Given the description of an element on the screen output the (x, y) to click on. 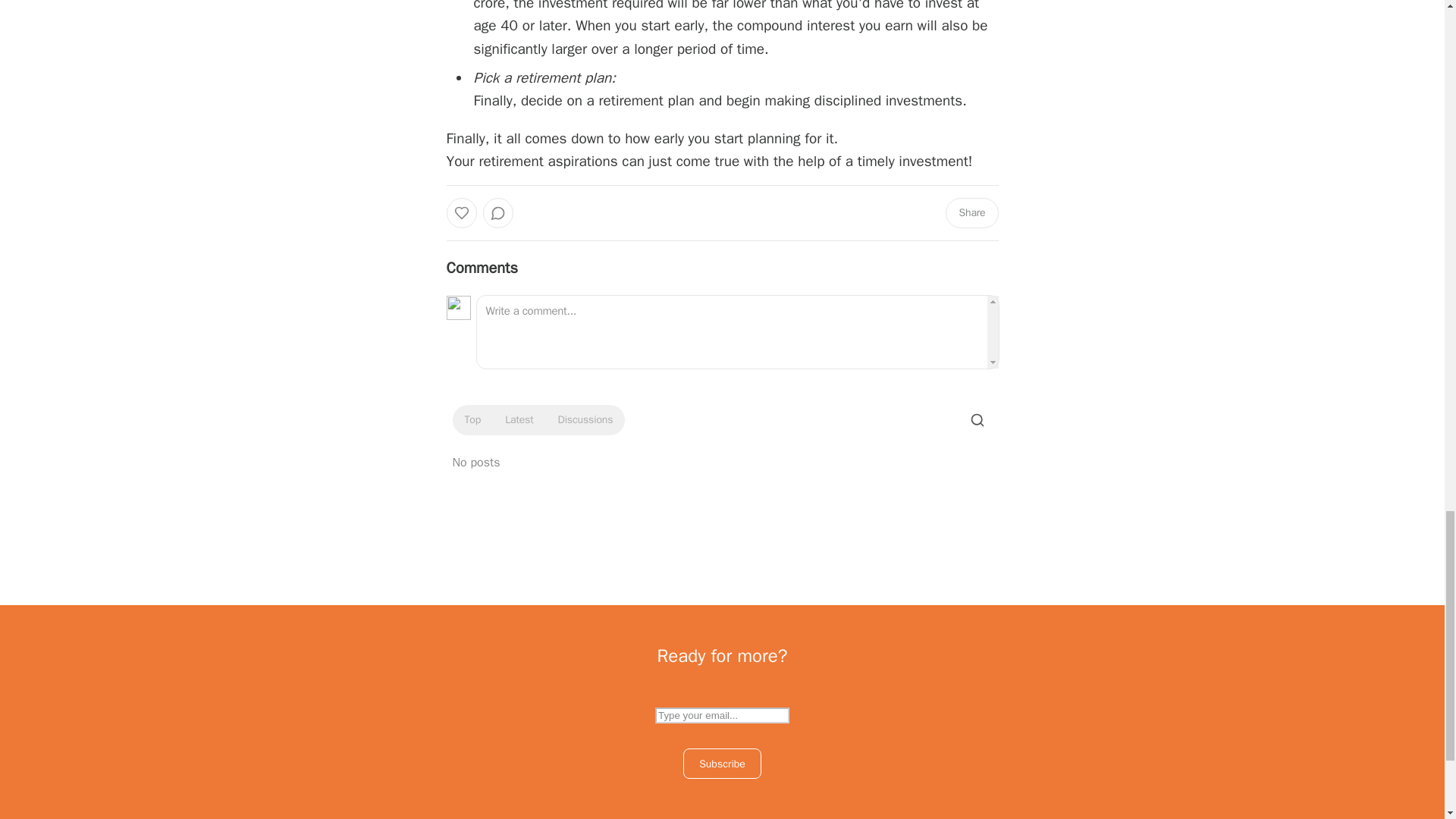
Latest (518, 419)
Subscribe (721, 763)
Discussions (585, 419)
Top (471, 419)
Share (970, 213)
